Given the description of an element on the screen output the (x, y) to click on. 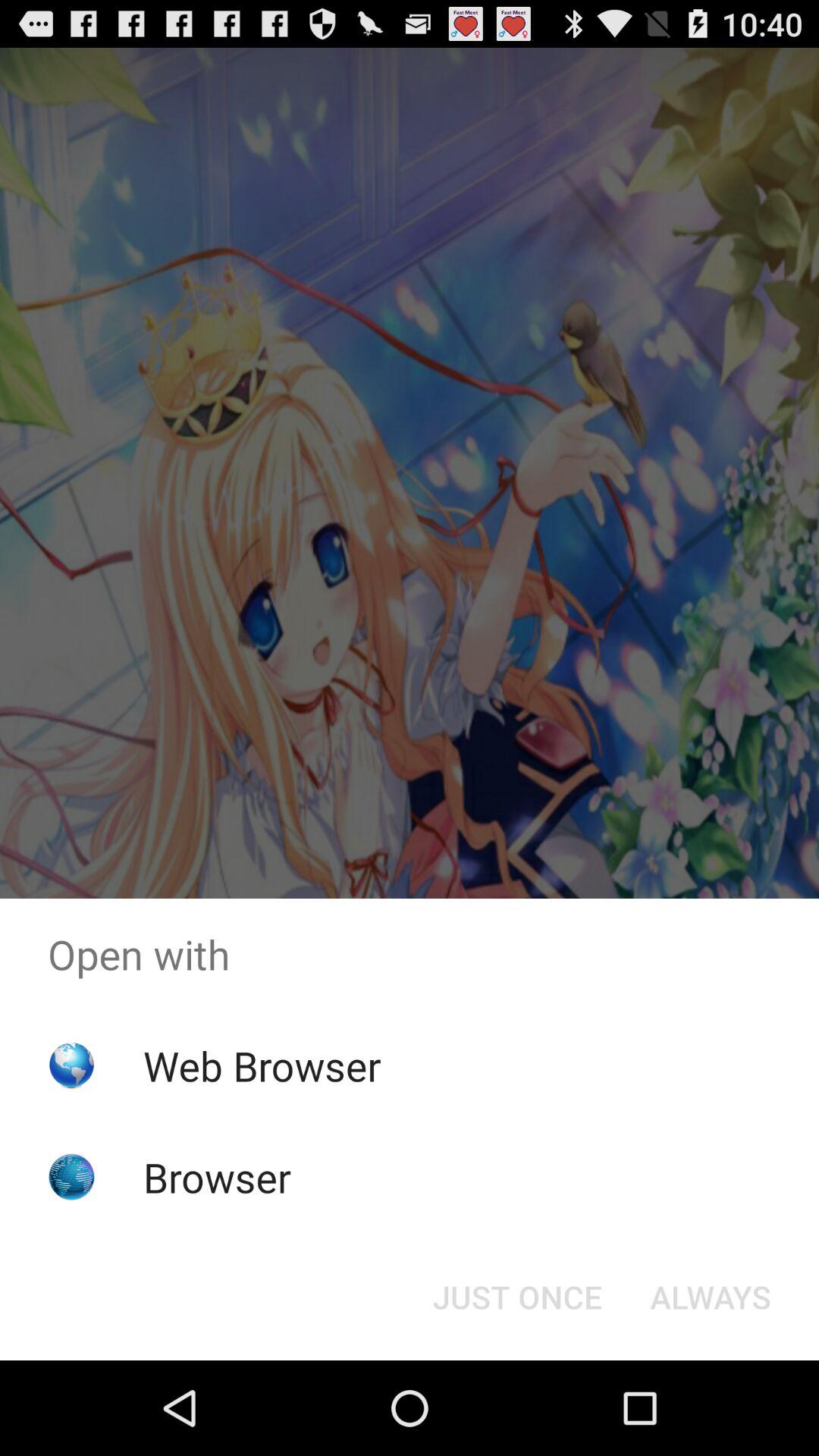
scroll until the always item (710, 1296)
